Given the description of an element on the screen output the (x, y) to click on. 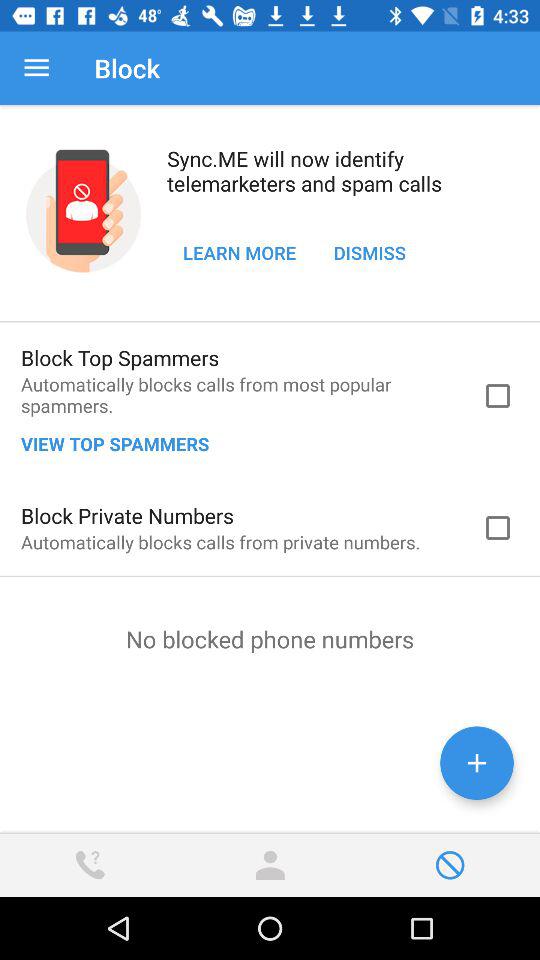
tap the icon below sync me will (239, 252)
